Given the description of an element on the screen output the (x, y) to click on. 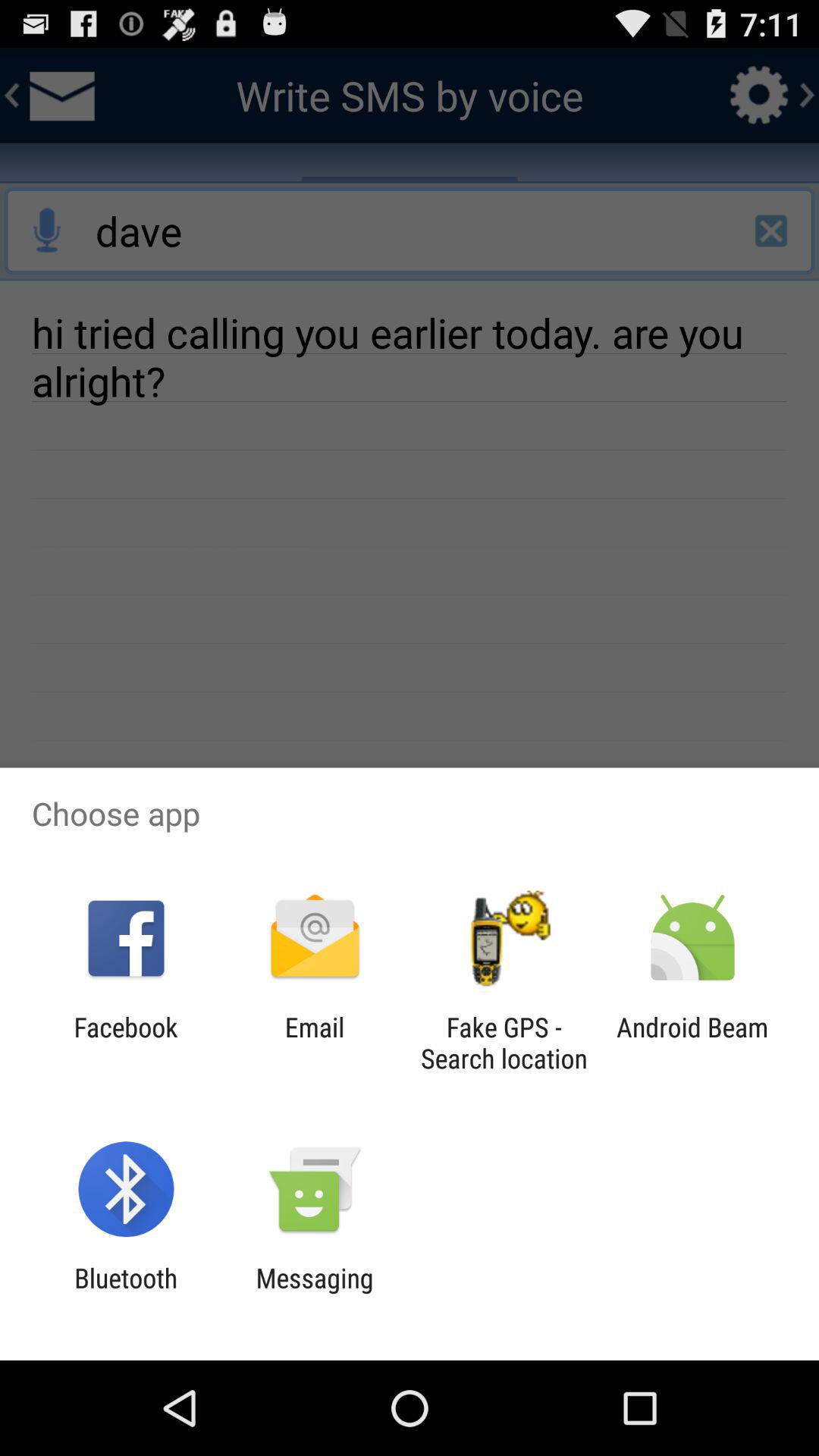
press the email (314, 1042)
